Given the description of an element on the screen output the (x, y) to click on. 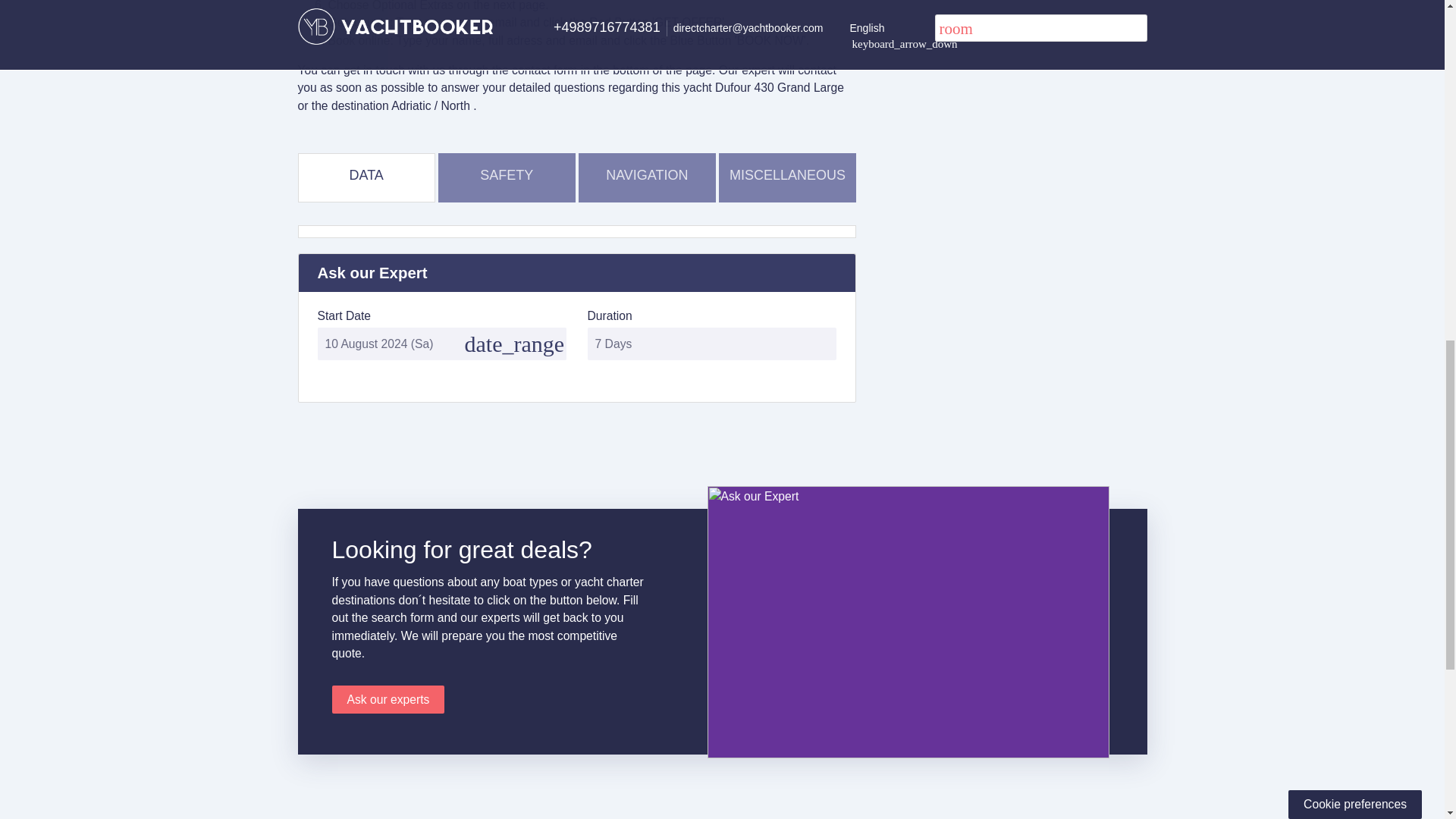
DATA (365, 174)
Ask our experts (388, 699)
SAFETY (507, 174)
NAVIGATION (646, 174)
MISCELLANEOUS (787, 174)
